Given the description of an element on the screen output the (x, y) to click on. 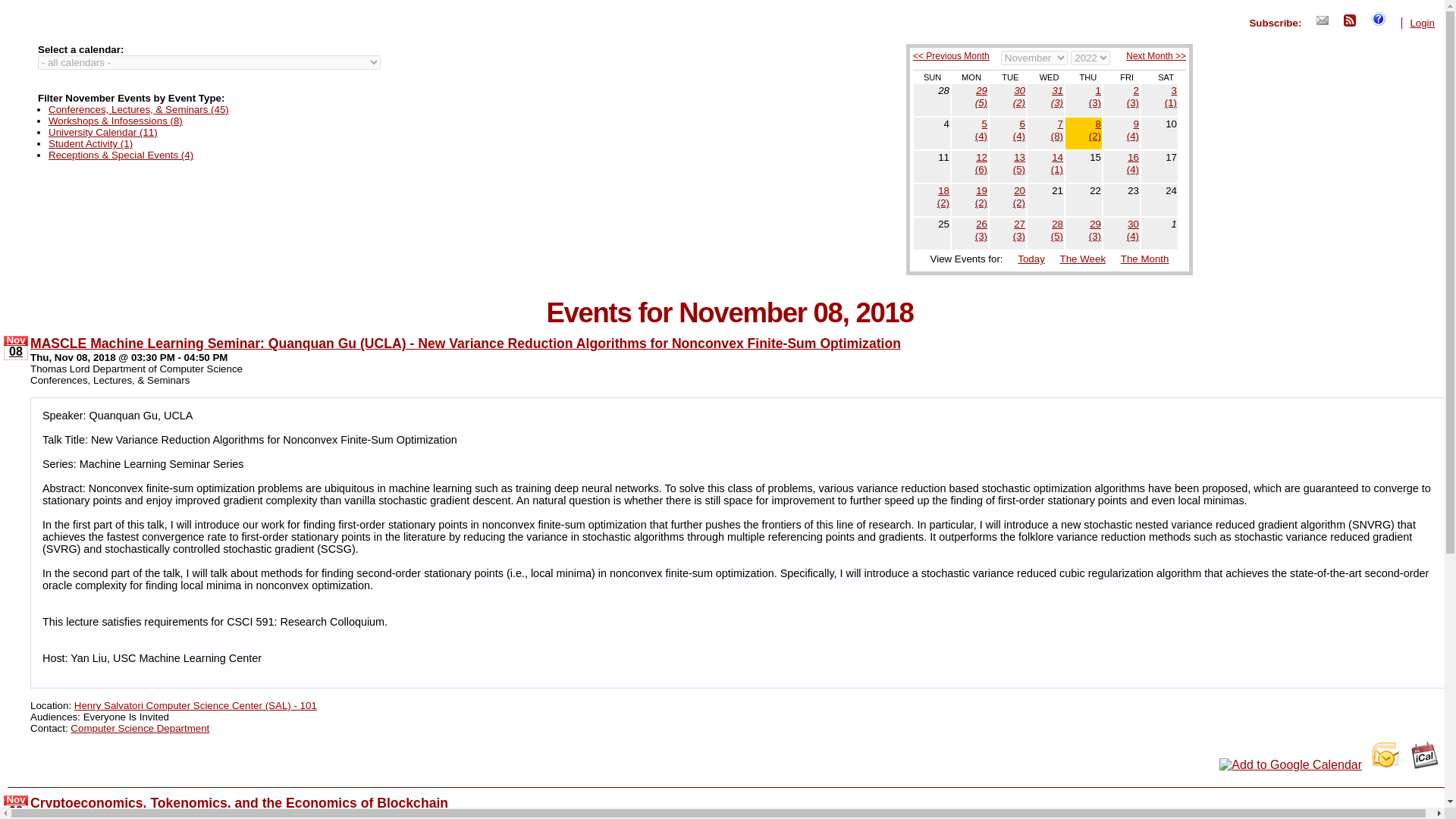
08 (15, 351)
Select a department (208, 62)
Login (1421, 22)
previous month (951, 55)
The Week (1082, 258)
Select the year (1089, 57)
Send Email to Computer Science Department (139, 726)
RSS feed (1349, 20)
Today (1031, 258)
How to Subscribe to your personal calendars. (1378, 18)
next month (1155, 55)
Select the month (1034, 57)
Nov (15, 339)
The Month (1145, 258)
